Given the description of an element on the screen output the (x, y) to click on. 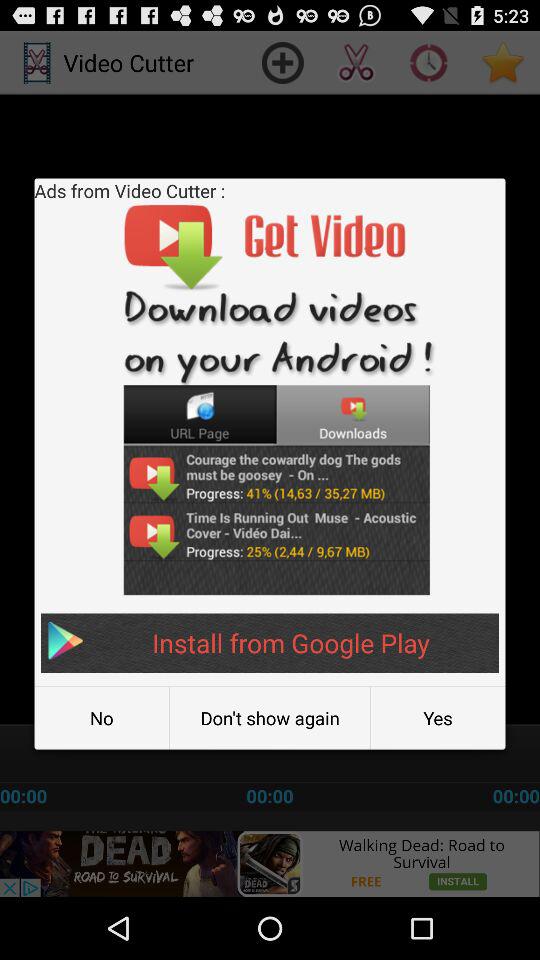
jump until the yes button (437, 717)
